Given the description of an element on the screen output the (x, y) to click on. 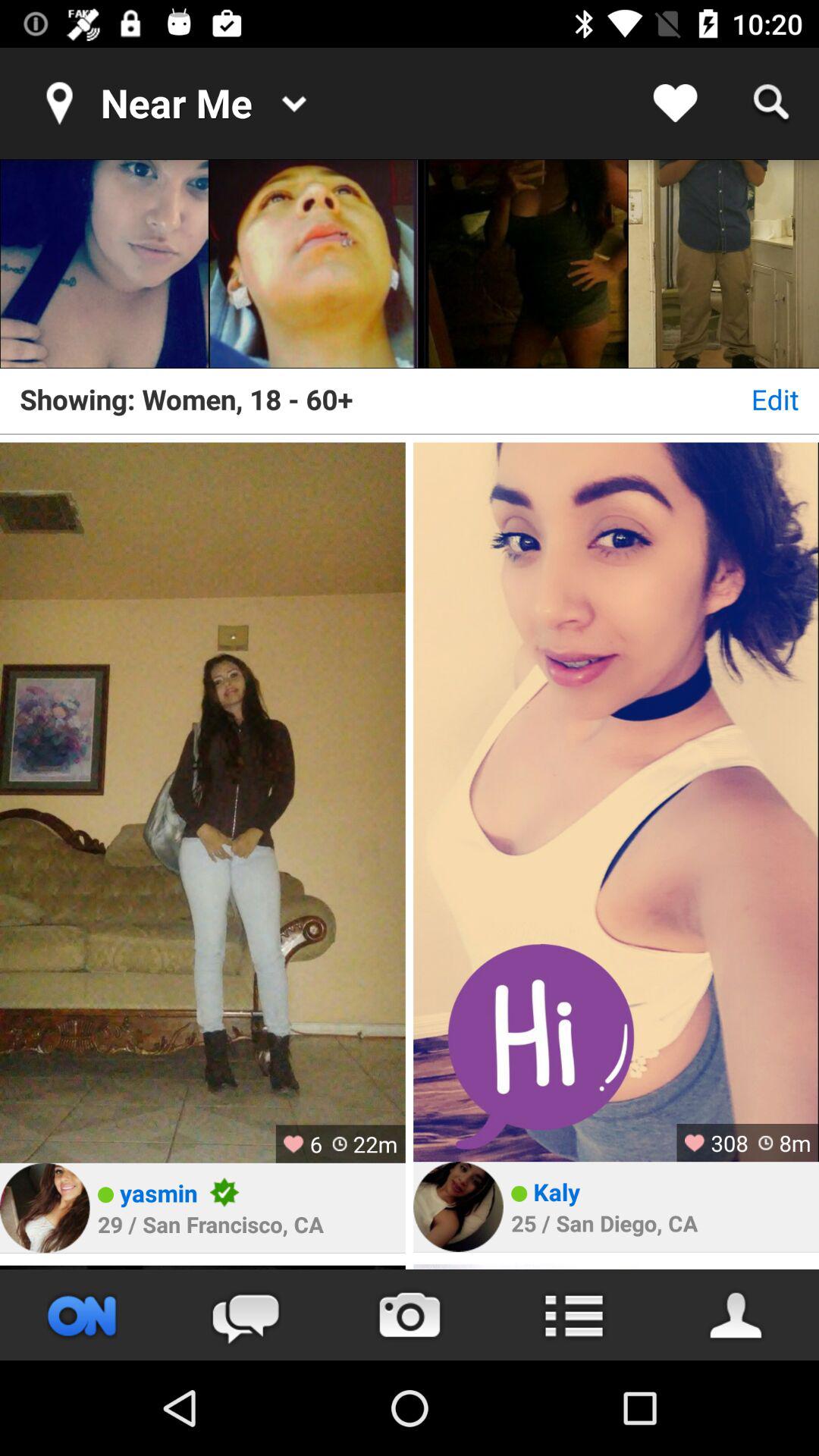
show in list view (573, 1315)
